Given the description of an element on the screen output the (x, y) to click on. 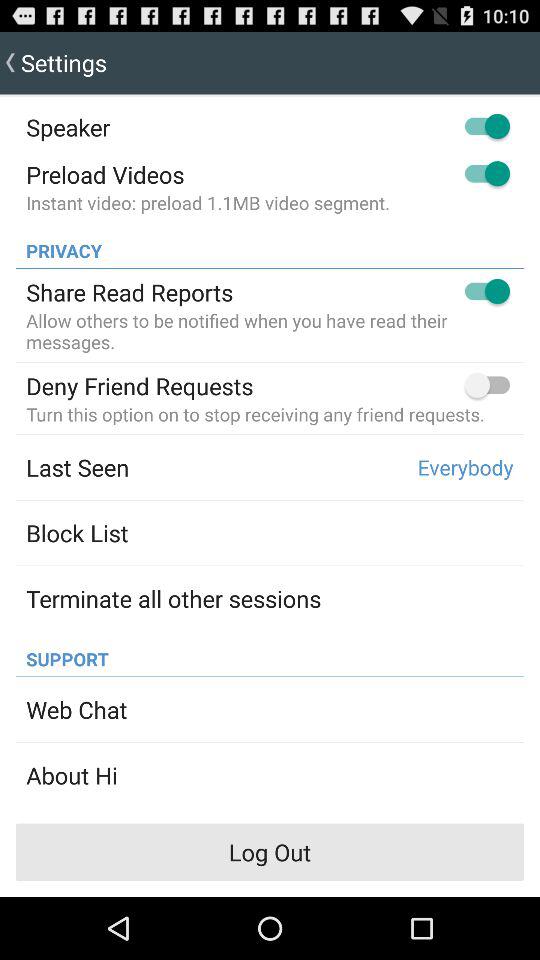
press log out (269, 852)
